Given the description of an element on the screen output the (x, y) to click on. 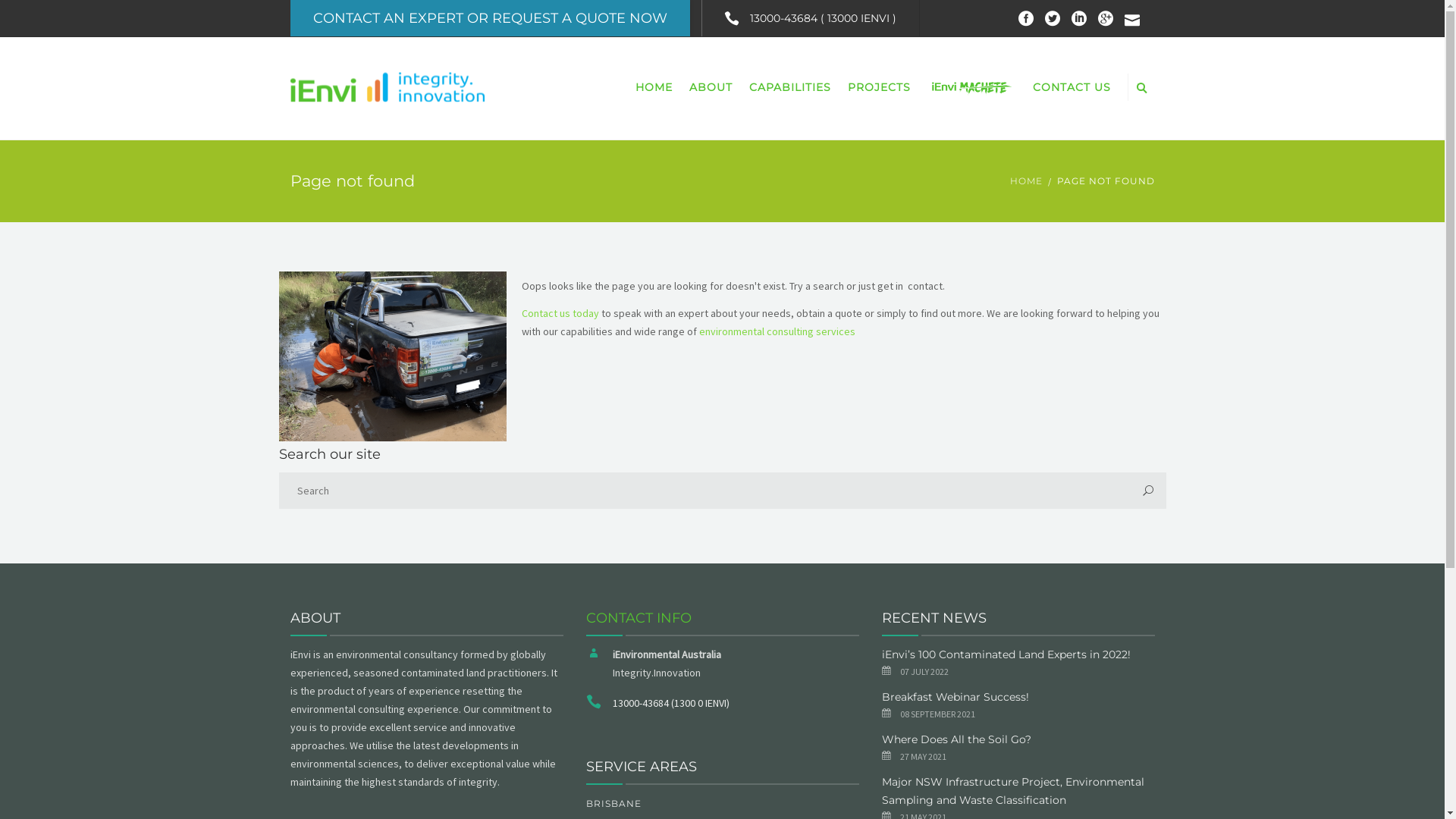
ABOUT Element type: text (710, 87)
IENVI MACHETE Element type: text (971, 88)
13000-43684 (1300 0 IENVI) Element type: text (670, 702)
CAPABILITIES Element type: text (789, 87)
CONTACT US Element type: text (1070, 87)
environmental consulting services Element type: text (777, 331)
CONTACT AN EXPERT OR REQUEST A QUOTE NOW Element type: text (489, 18)
Contact us today Element type: text (560, 313)
Where Does All the Soil Go? Element type: text (955, 739)
HOME Element type: text (1026, 181)
HOME Element type: text (653, 87)
Breakfast Webinar Success! Element type: text (954, 696)
PROJECTS Element type: text (878, 87)
13000-43684 ( 13000 IENVI ) Element type: text (809, 18)
